Given the description of an element on the screen output the (x, y) to click on. 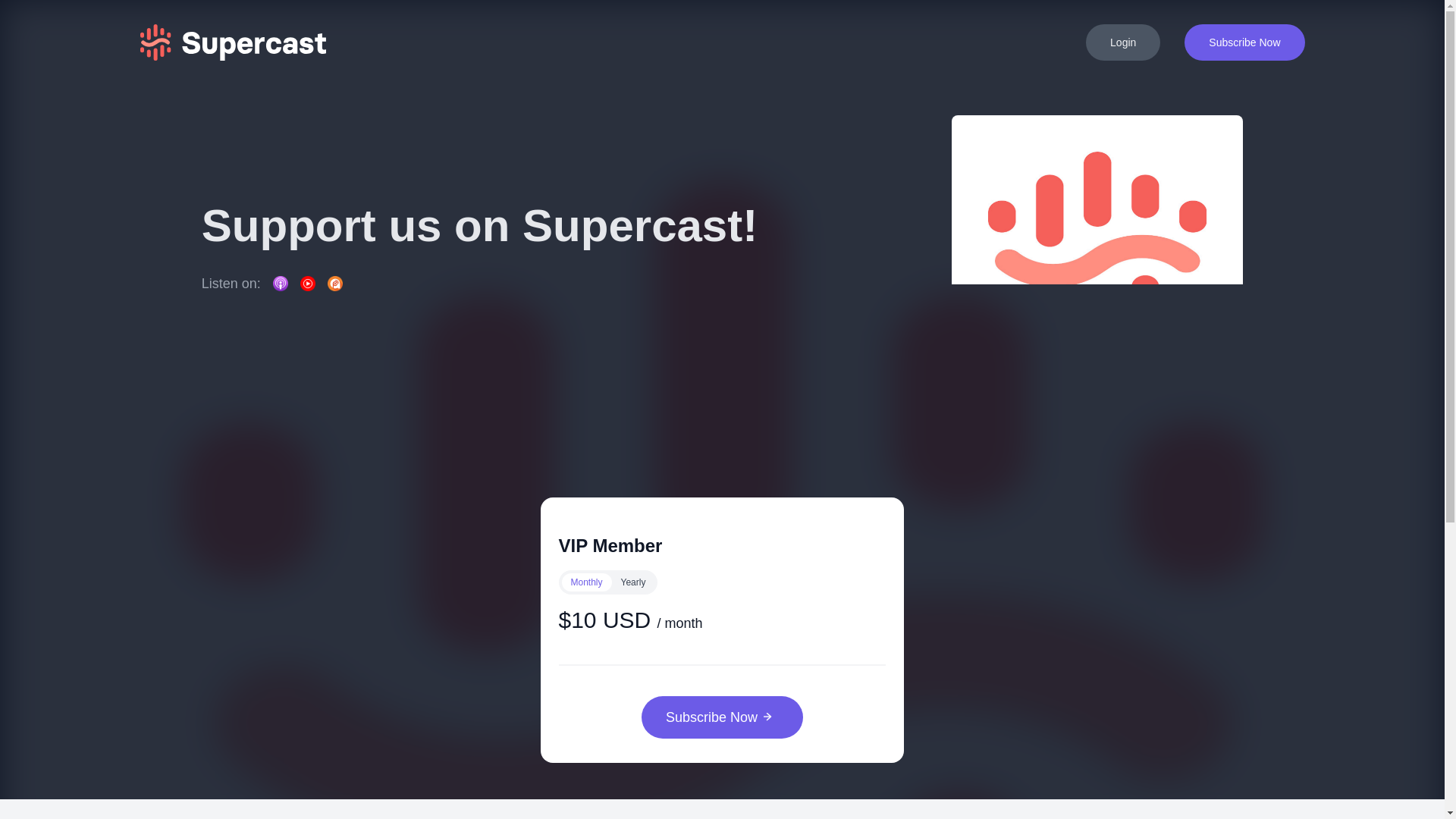
Login (1123, 42)
Subscribe Now (722, 717)
Subscribe Now (1244, 42)
